Given the description of an element on the screen output the (x, y) to click on. 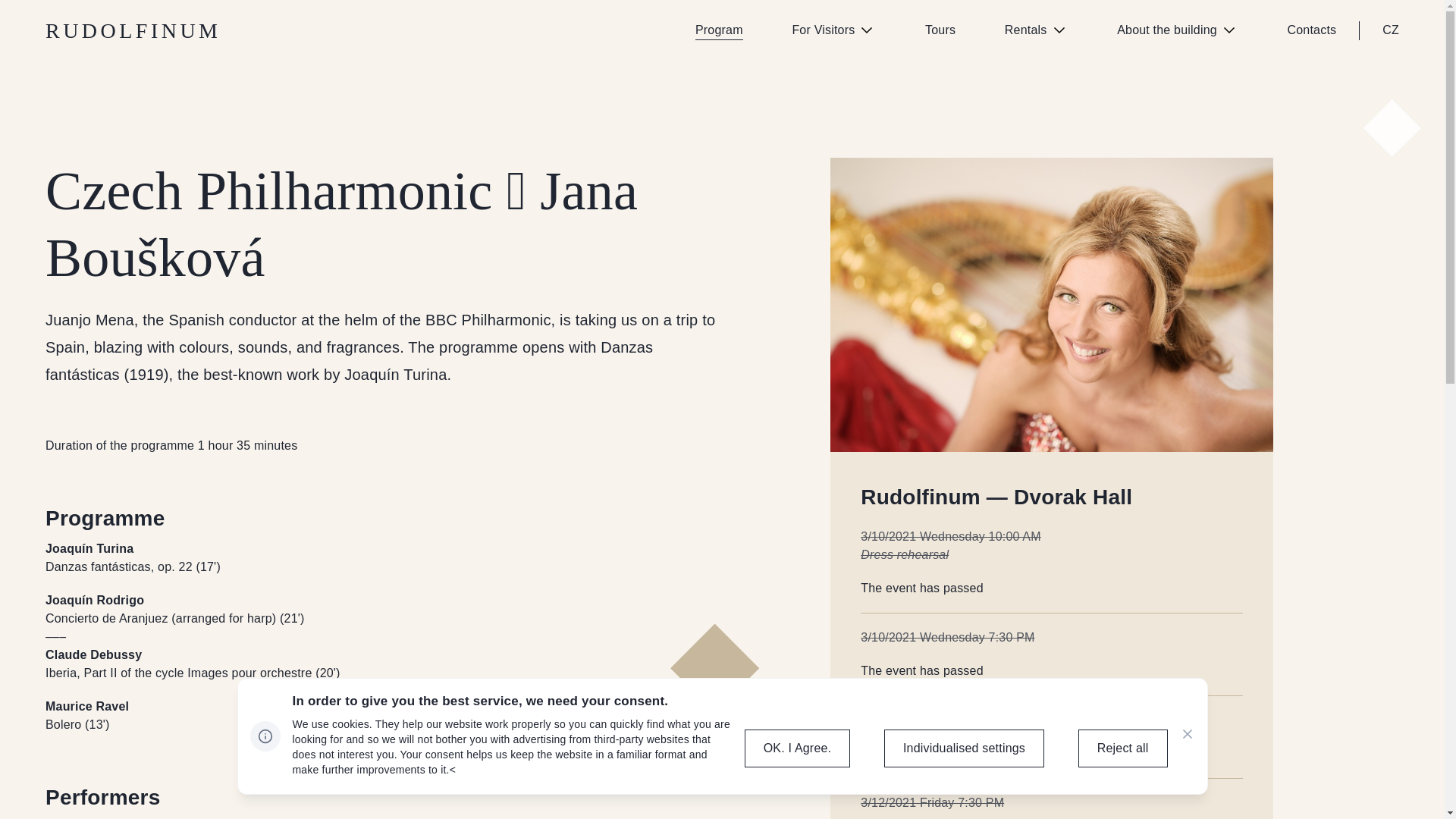
RUDOLFINUM (133, 30)
For Visitors (834, 30)
Program (718, 30)
For Visitors (834, 30)
About the building (1177, 30)
Program (718, 30)
CZ (1390, 30)
Contacts (1311, 30)
Tours (939, 30)
Contacts (1311, 30)
About the building (1177, 30)
Rentals (1036, 30)
Tours (939, 30)
Reject all (1122, 748)
Rentals (1036, 30)
